Given the description of an element on the screen output the (x, y) to click on. 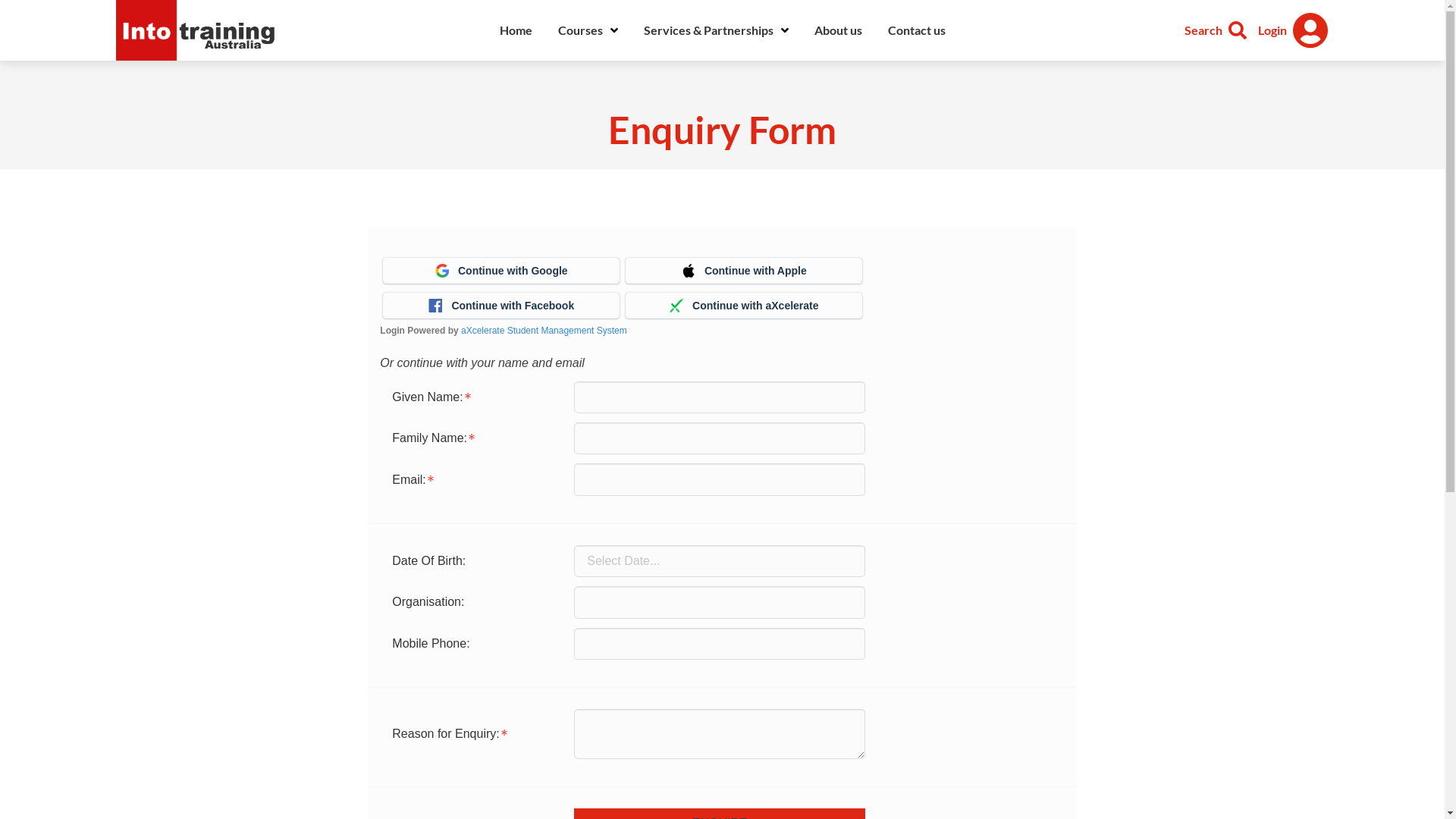
About us Element type: text (837, 30)
Courses Element type: text (587, 30)
Login Element type: text (1292, 30)
Search Element type: text (1214, 30)
Services & Partnerships Element type: text (715, 30)
aXcelerate Student Management System Element type: text (544, 329)
Contact us Element type: text (916, 30)
Home Element type: text (515, 30)
Continue with Apple Element type: text (743, 270)
Continue with Facebook Element type: text (500, 305)
Continue with aXcelerate Element type: text (743, 305)
Continue with Google Element type: text (500, 270)
